Given the description of an element on the screen output the (x, y) to click on. 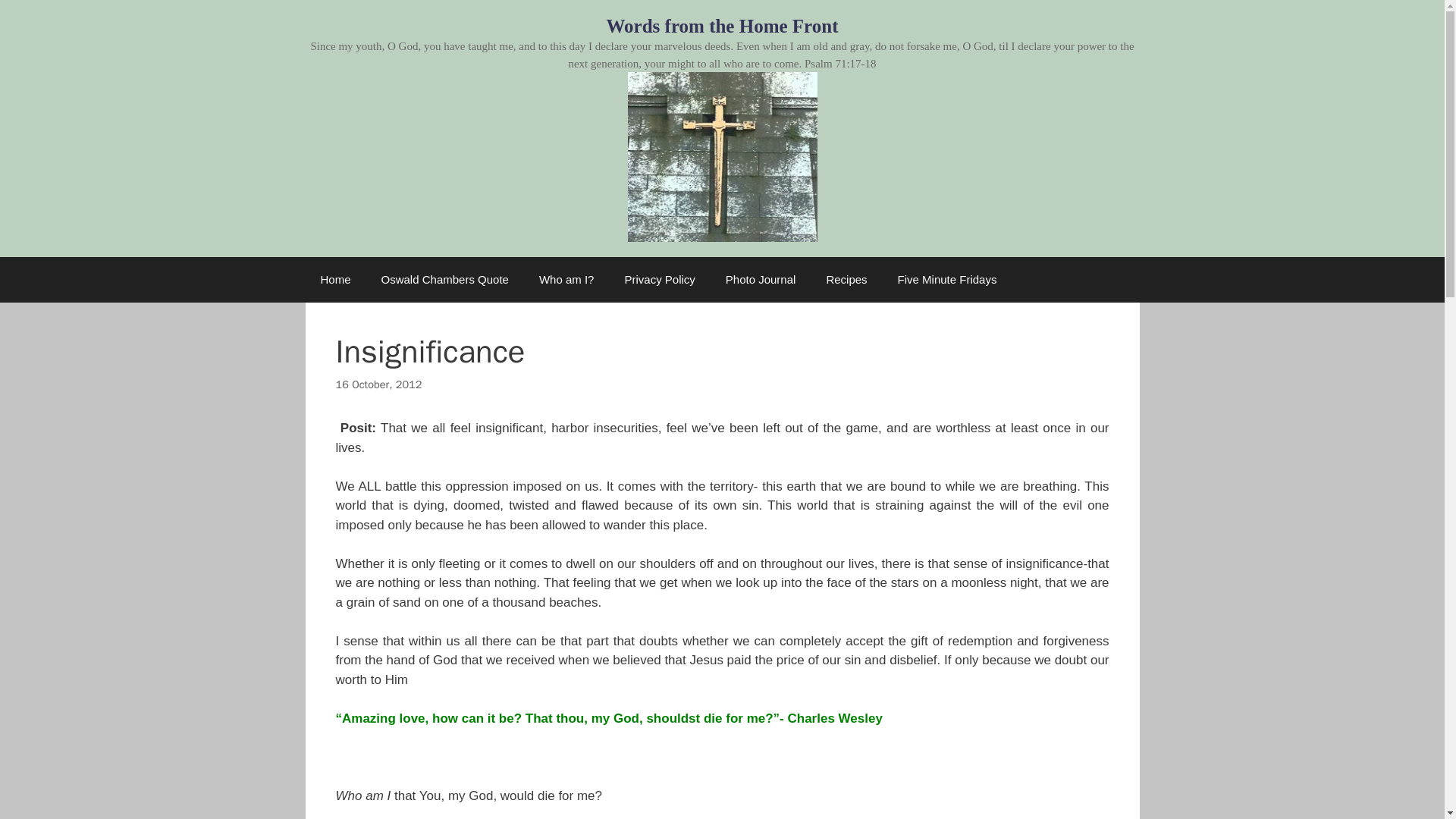
Oswald Chambers Quote (445, 279)
Photo Journal (760, 279)
Who am I? (567, 279)
Home (334, 279)
Privacy Policy (659, 279)
Recipes (846, 279)
Words from the Home Front (722, 25)
Five Minute Fridays (946, 279)
